Given the description of an element on the screen output the (x, y) to click on. 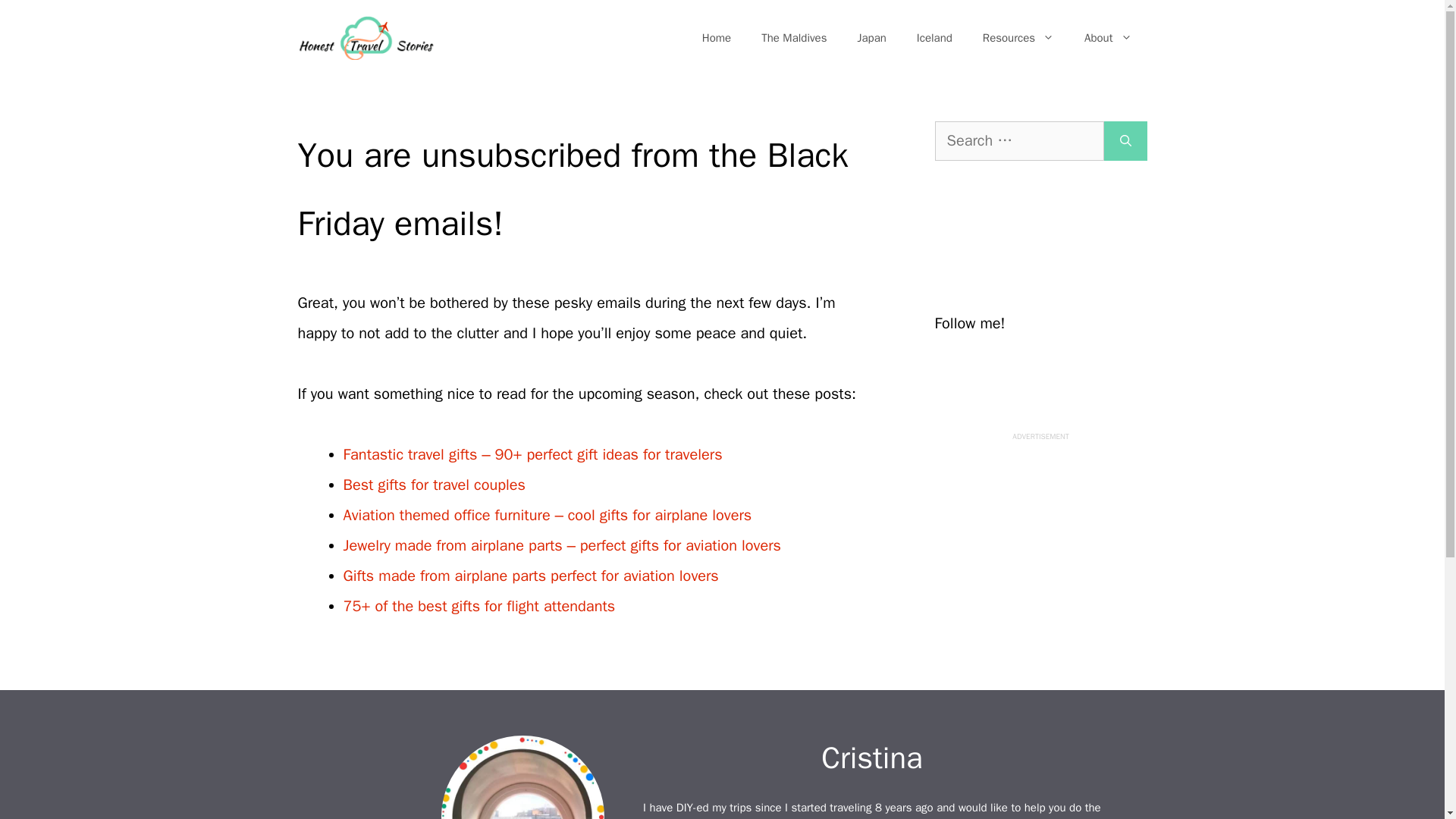
Gifts made from airplane parts perfect for aviation lovers (529, 575)
Best gifts for travel couples (433, 484)
Japan (871, 37)
Resources (1018, 37)
Iceland (934, 37)
About (1107, 37)
Search for: (1018, 140)
Home (716, 37)
The Maldives (793, 37)
